Given the description of an element on the screen output the (x, y) to click on. 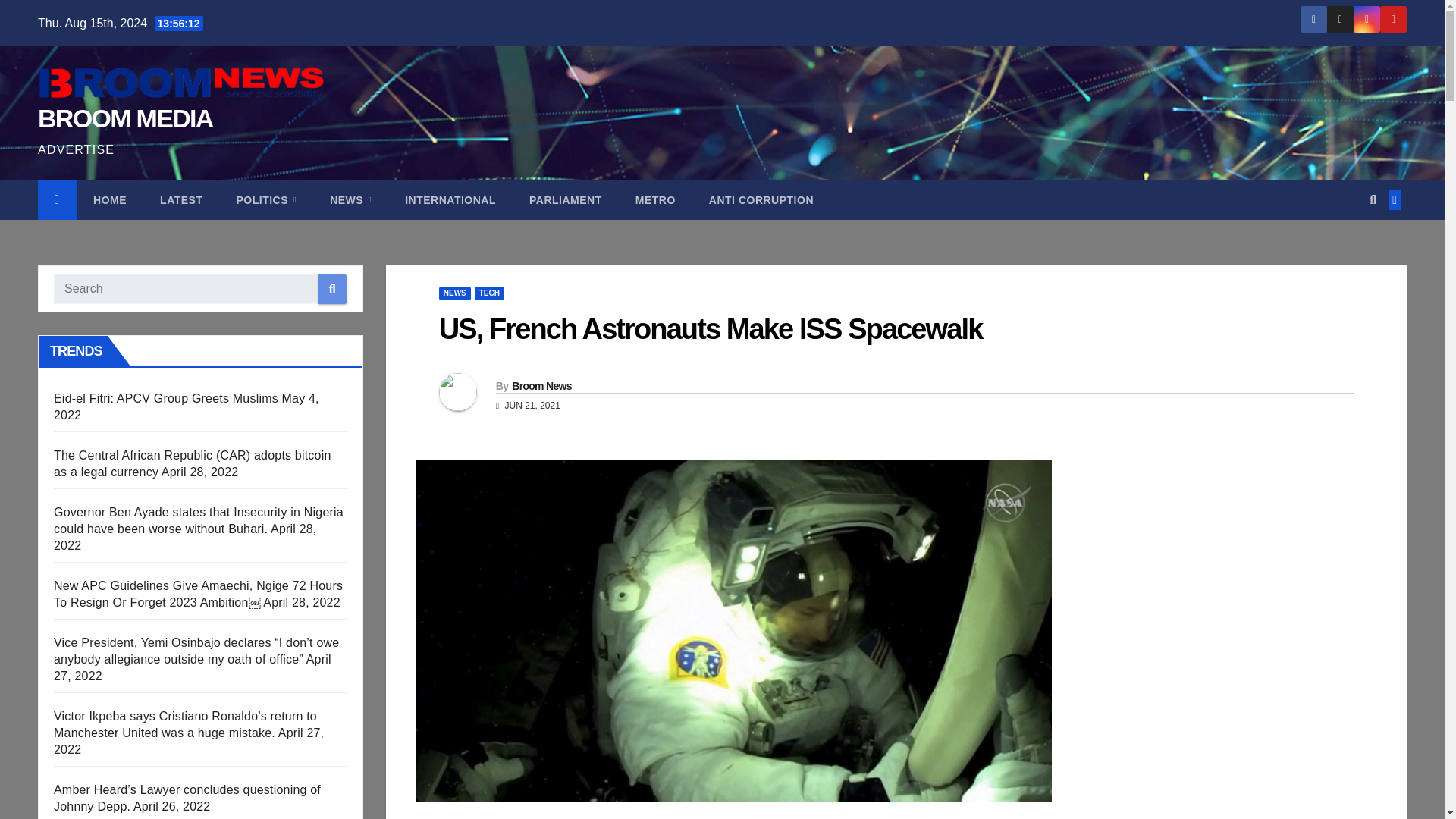
PARLIAMENT (565, 200)
Home (109, 200)
INTERNATIONAL (450, 200)
LATEST (180, 200)
HOME (109, 200)
News (350, 200)
ANTI CORRUPTION (761, 200)
POLITICS (266, 200)
Latest (180, 200)
METRO (655, 200)
